Given the description of an element on the screen output the (x, y) to click on. 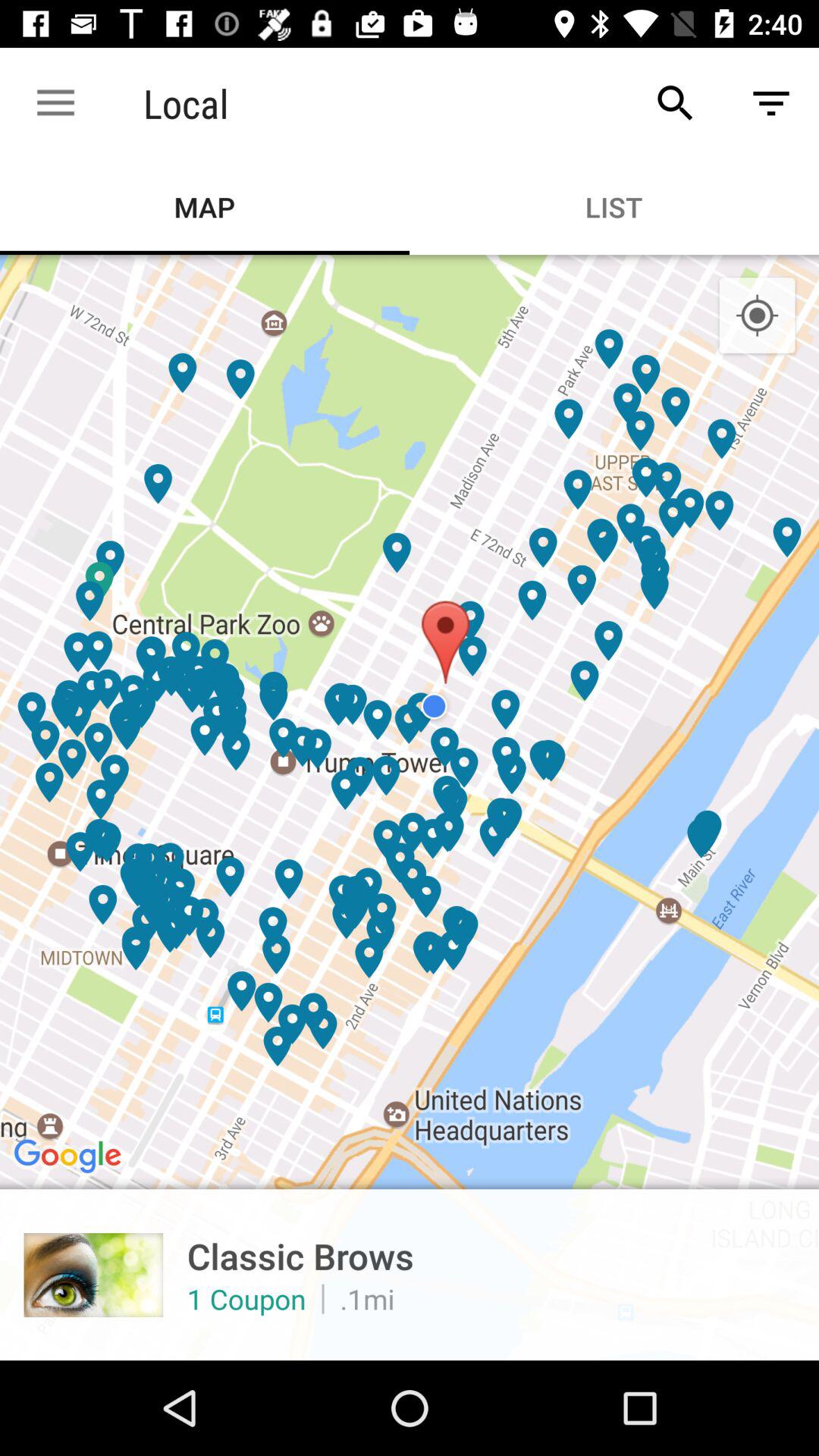
turn on the item next to local app (55, 103)
